Given the description of an element on the screen output the (x, y) to click on. 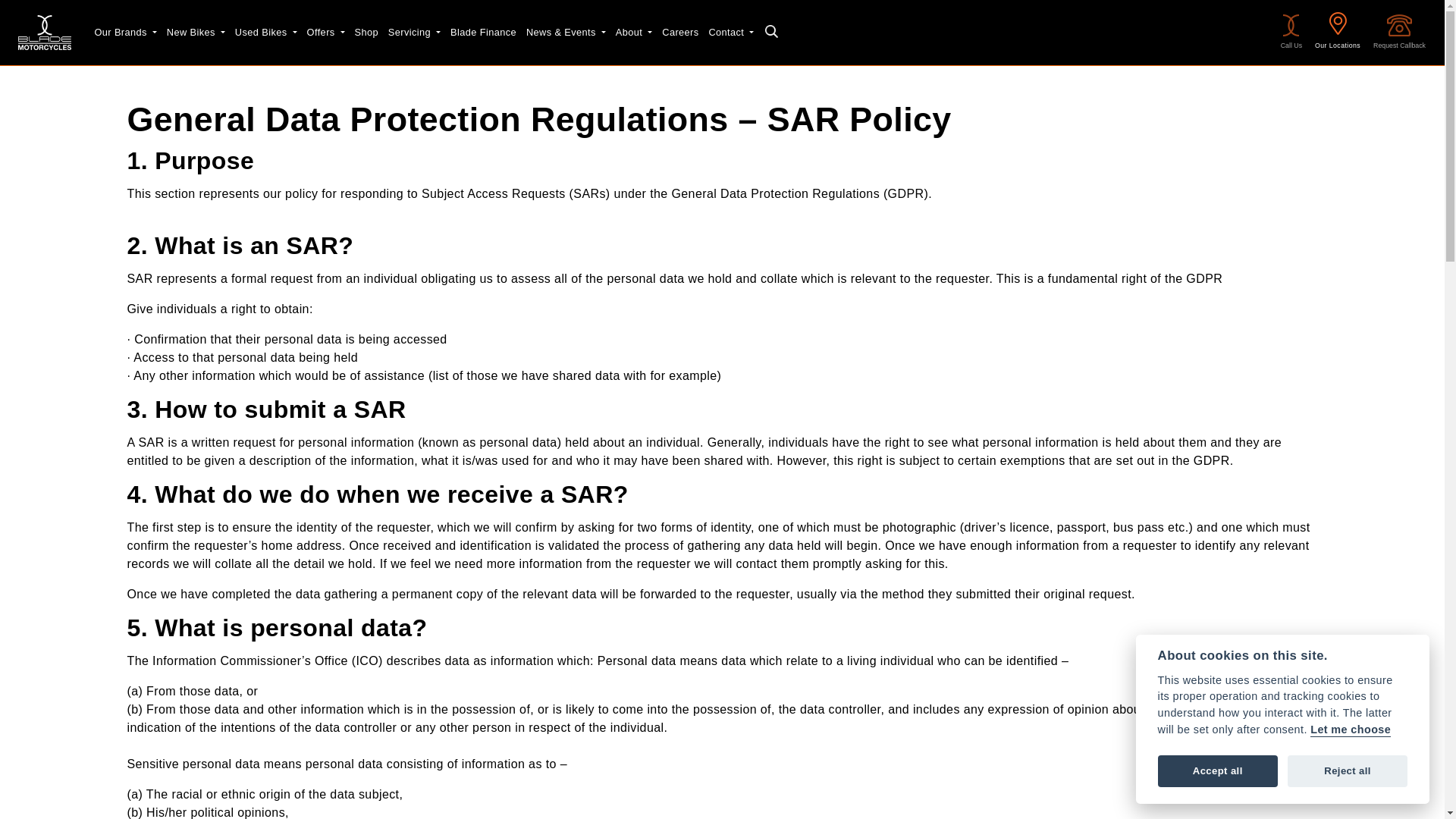
Used Bikes (265, 31)
Request Callback (1399, 32)
New Bikes (195, 31)
Our Brands (124, 31)
Our Locations (1336, 32)
Blade Motorcycles (44, 32)
Offers (325, 31)
Shop (365, 31)
